Given the description of an element on the screen output the (x, y) to click on. 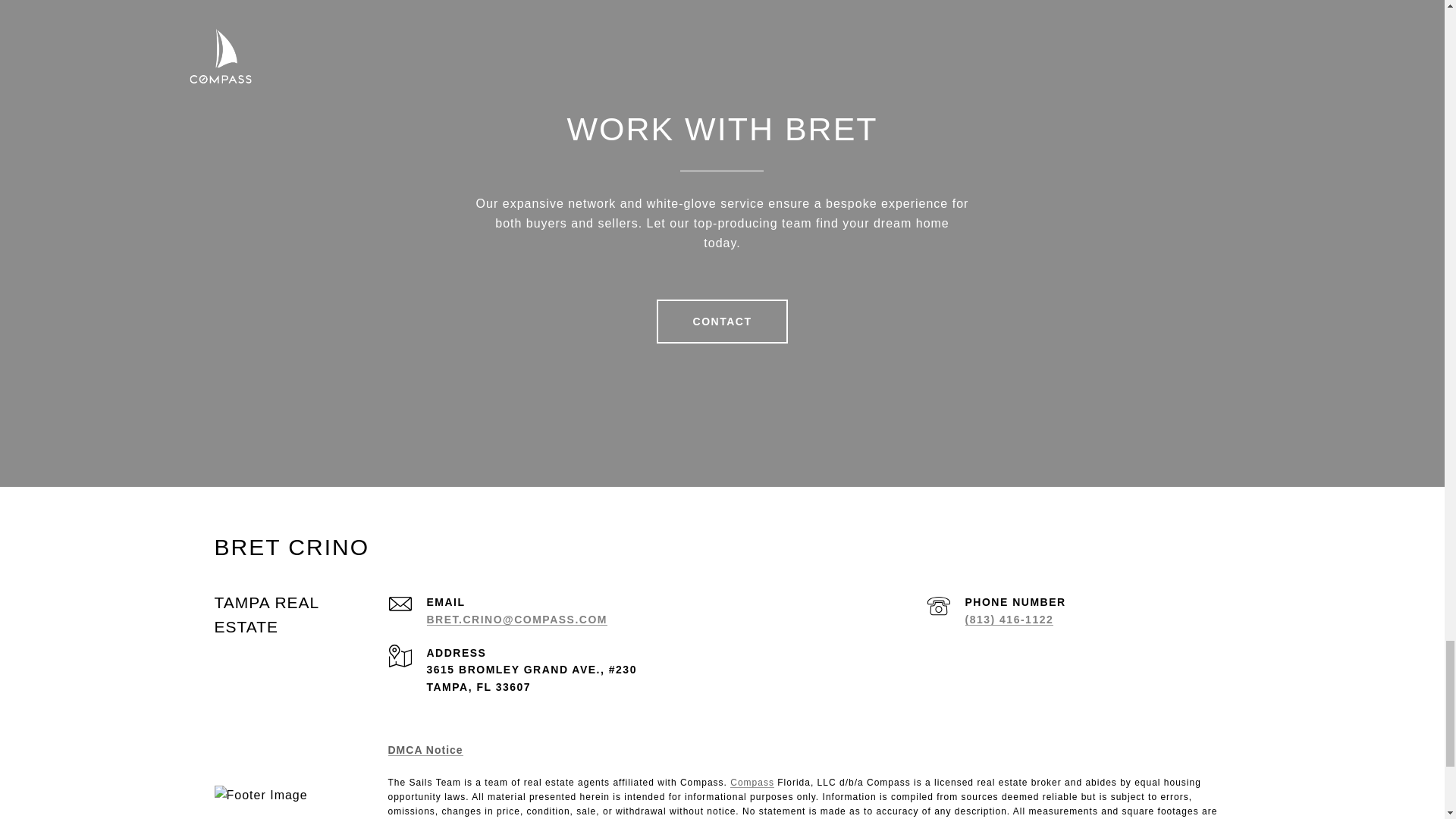
CONTACT (722, 321)
DMCA Notice (425, 749)
